Given the description of an element on the screen output the (x, y) to click on. 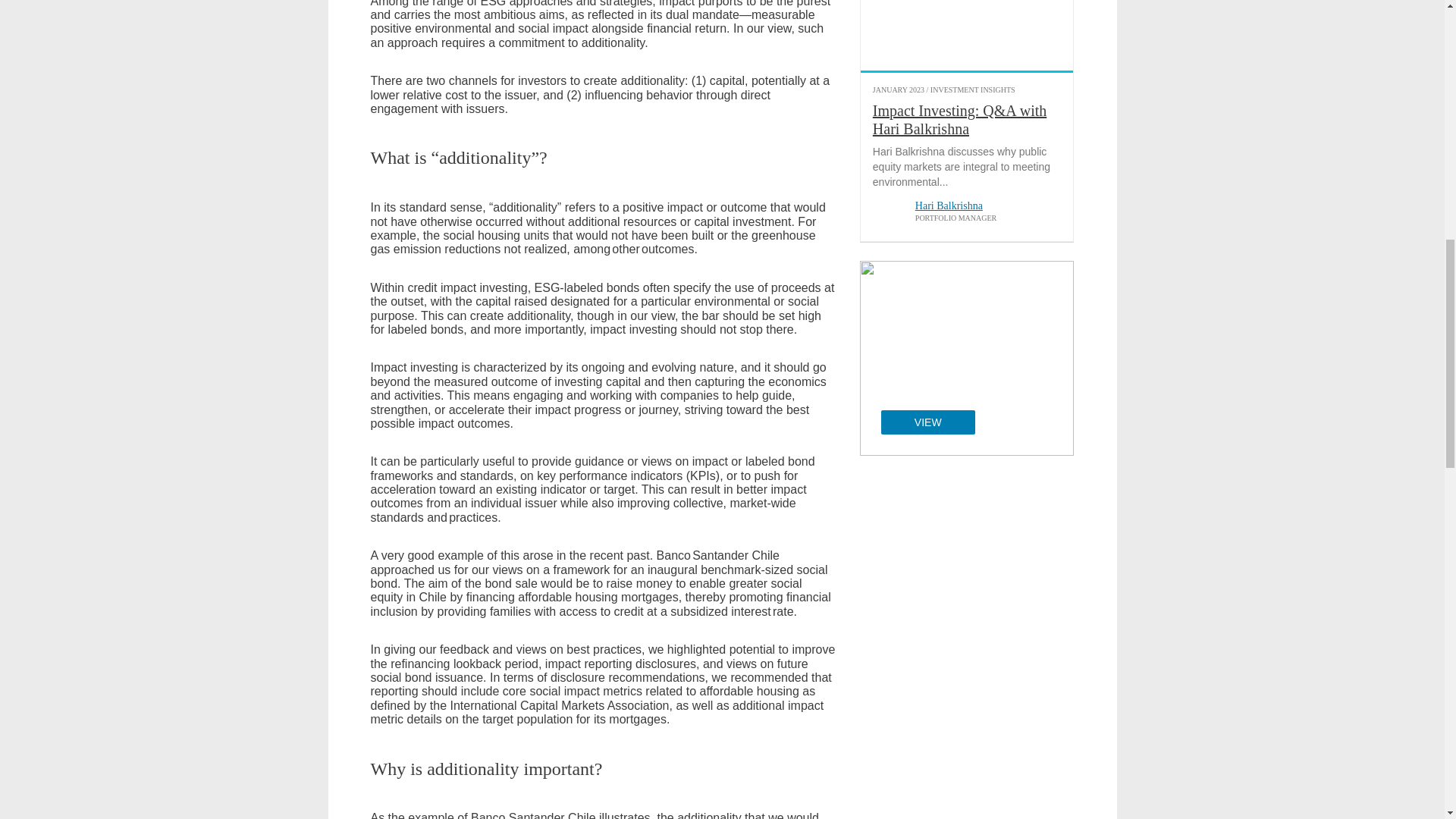
Aerial view of Mangrove forest and river. (967, 35)
Hari Balkrishna (887, 214)
